Given the description of an element on the screen output the (x, y) to click on. 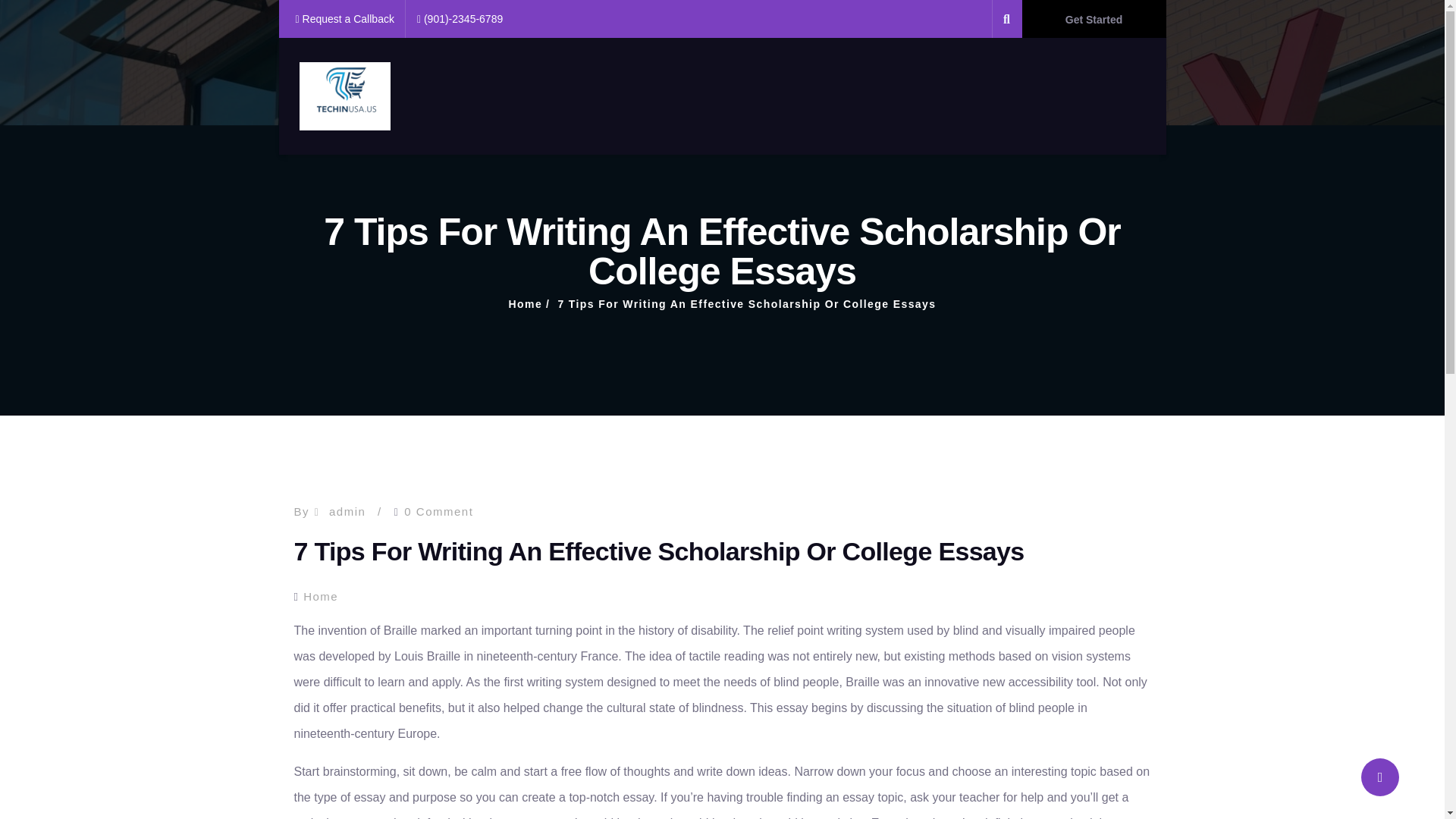
Home (319, 596)
0 Comment (438, 511)
Get Started (1094, 18)
admin (347, 511)
Home (525, 304)
